Given the description of an element on the screen output the (x, y) to click on. 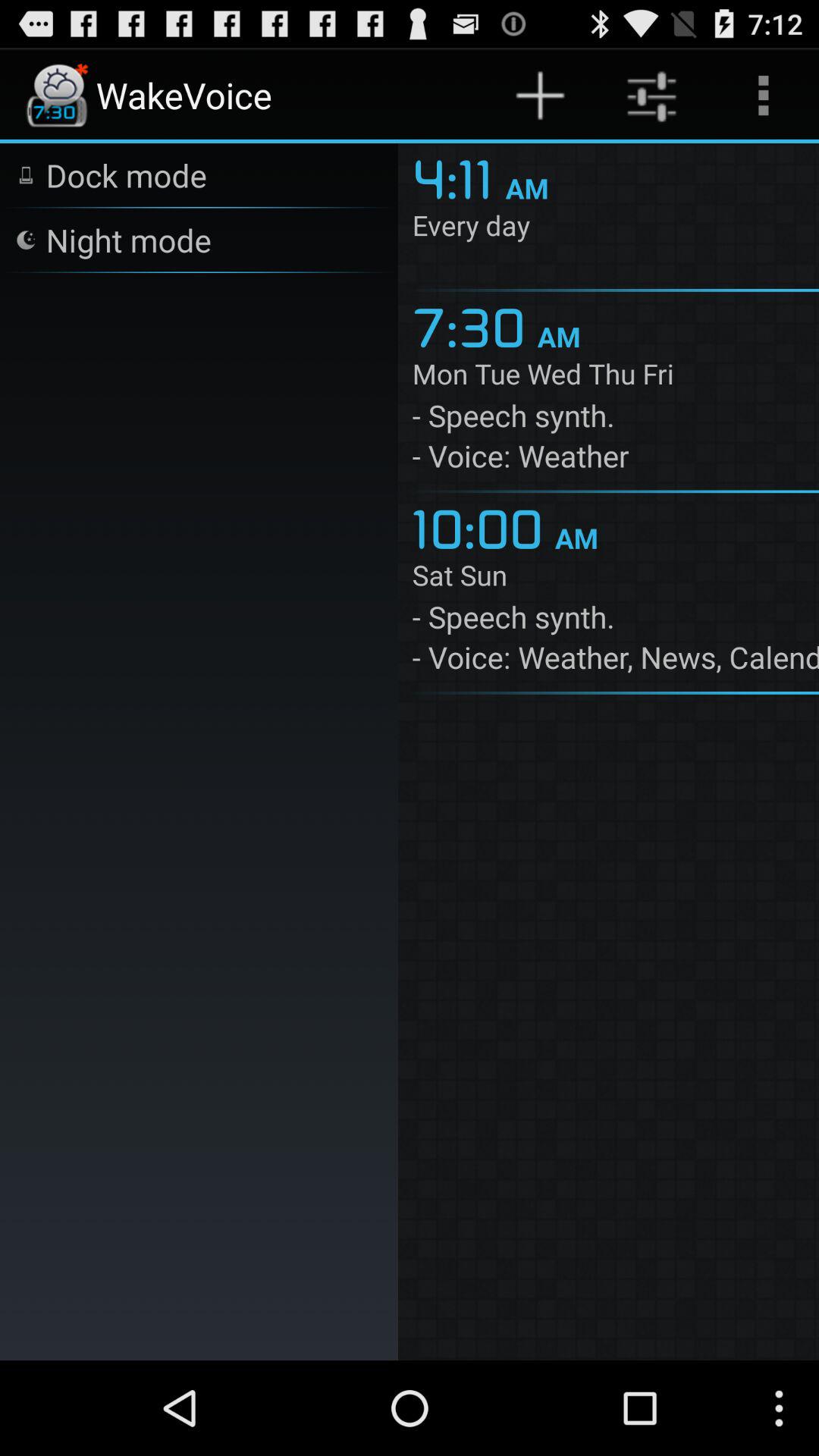
choose the 7:30 item (474, 324)
